Given the description of an element on the screen output the (x, y) to click on. 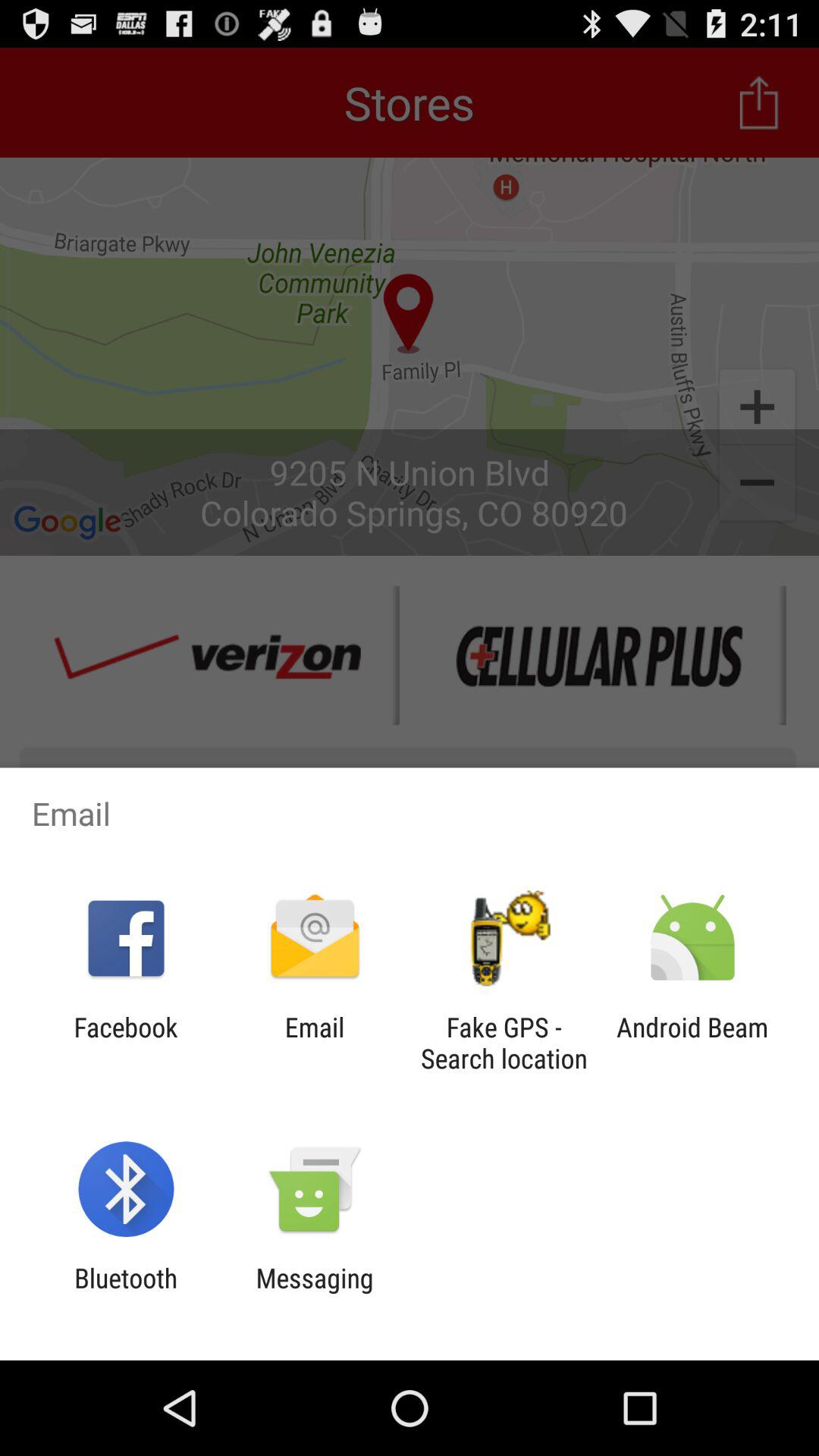
launch icon next to the android beam (503, 1042)
